Given the description of an element on the screen output the (x, y) to click on. 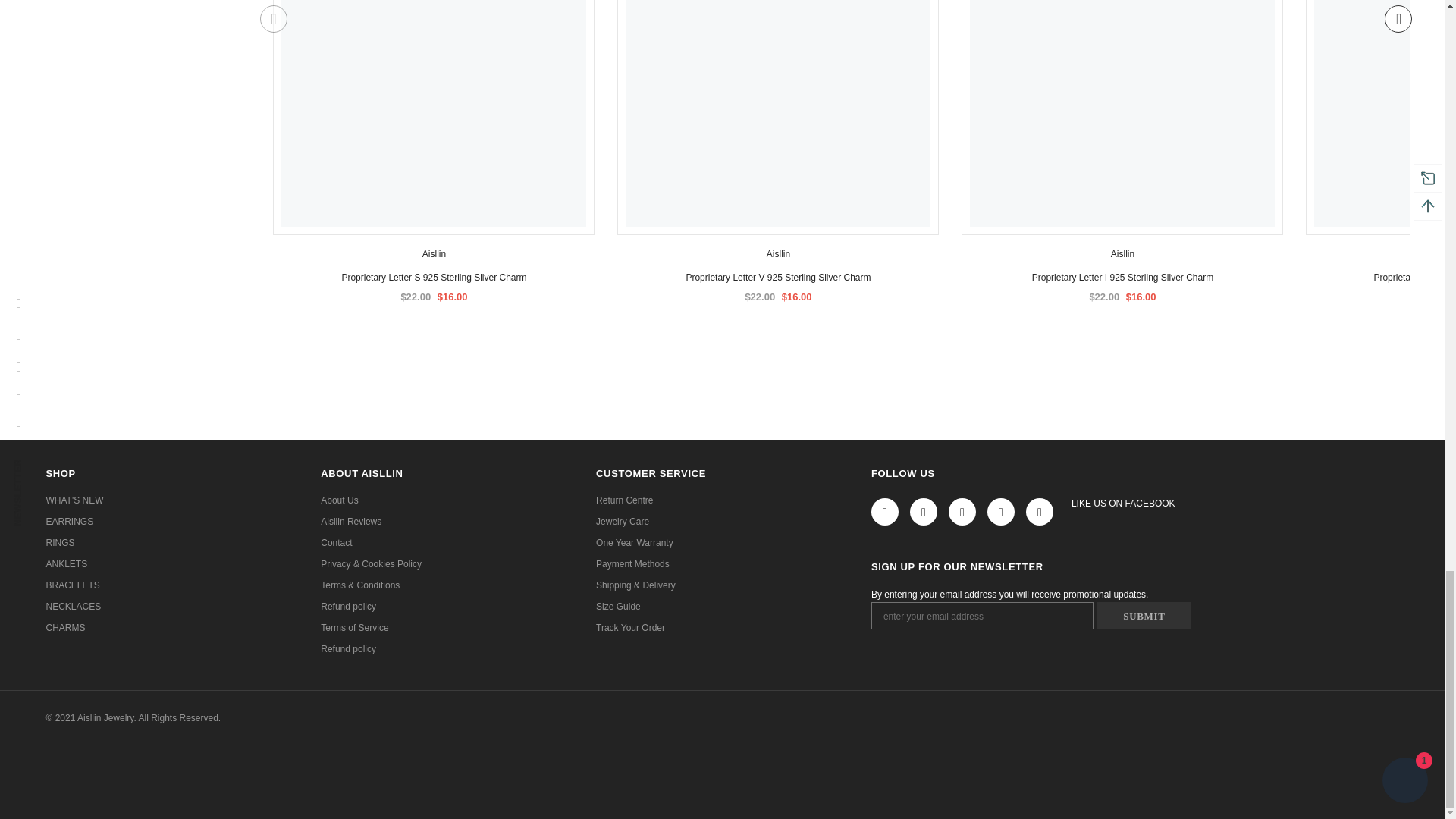
Submit (1144, 615)
